Given the description of an element on the screen output the (x, y) to click on. 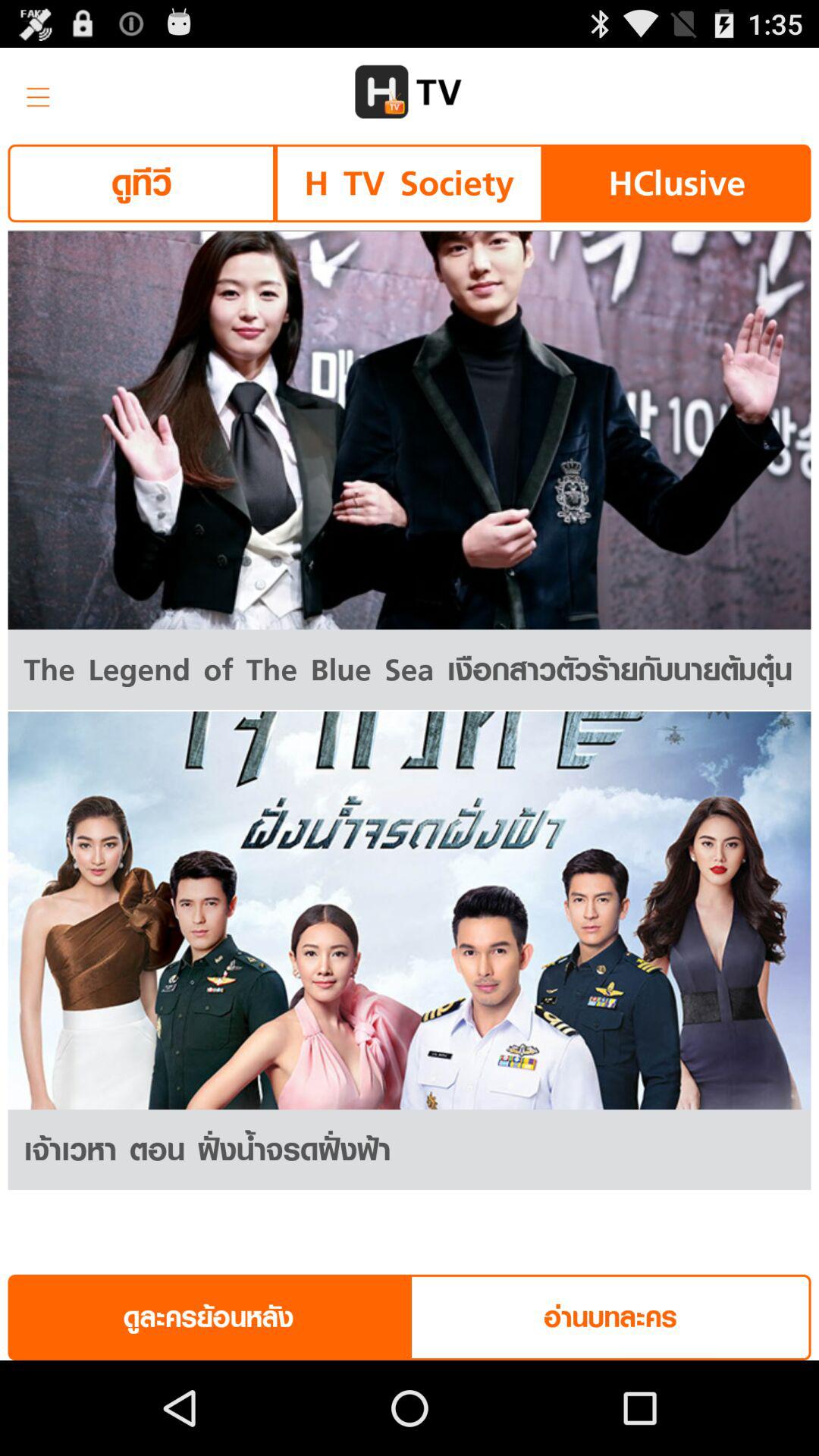
flip to the h tv society (409, 183)
